Given the description of an element on the screen output the (x, y) to click on. 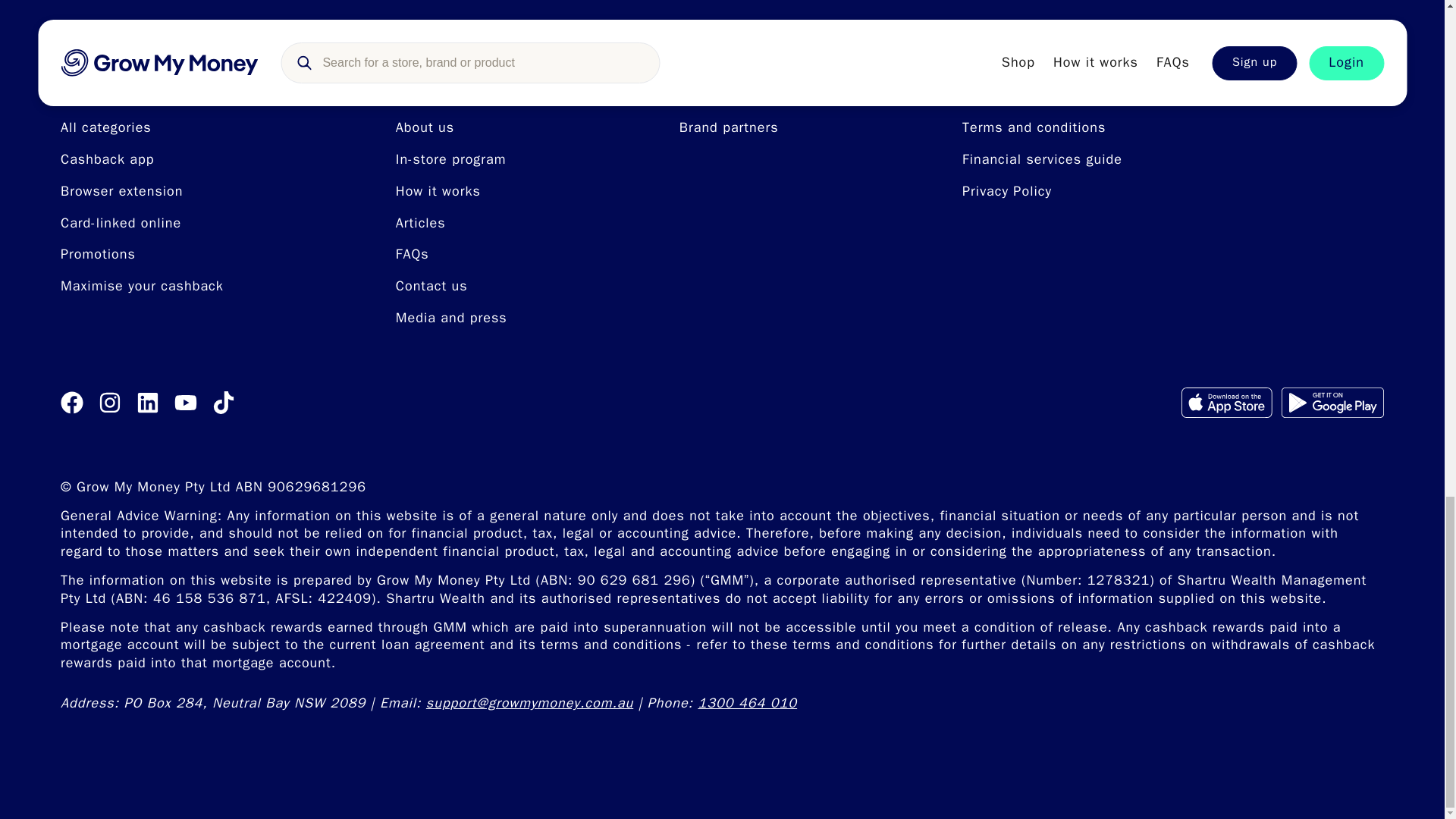
All categories (106, 126)
For business (734, 93)
About us (425, 126)
Financial services guide (1042, 158)
Media and press (451, 317)
How it works (438, 190)
Grow My Money Linkedin (147, 402)
Terms and conditions (1033, 126)
FAQs (412, 253)
Browser extension (122, 190)
